Given the description of an element on the screen output the (x, y) to click on. 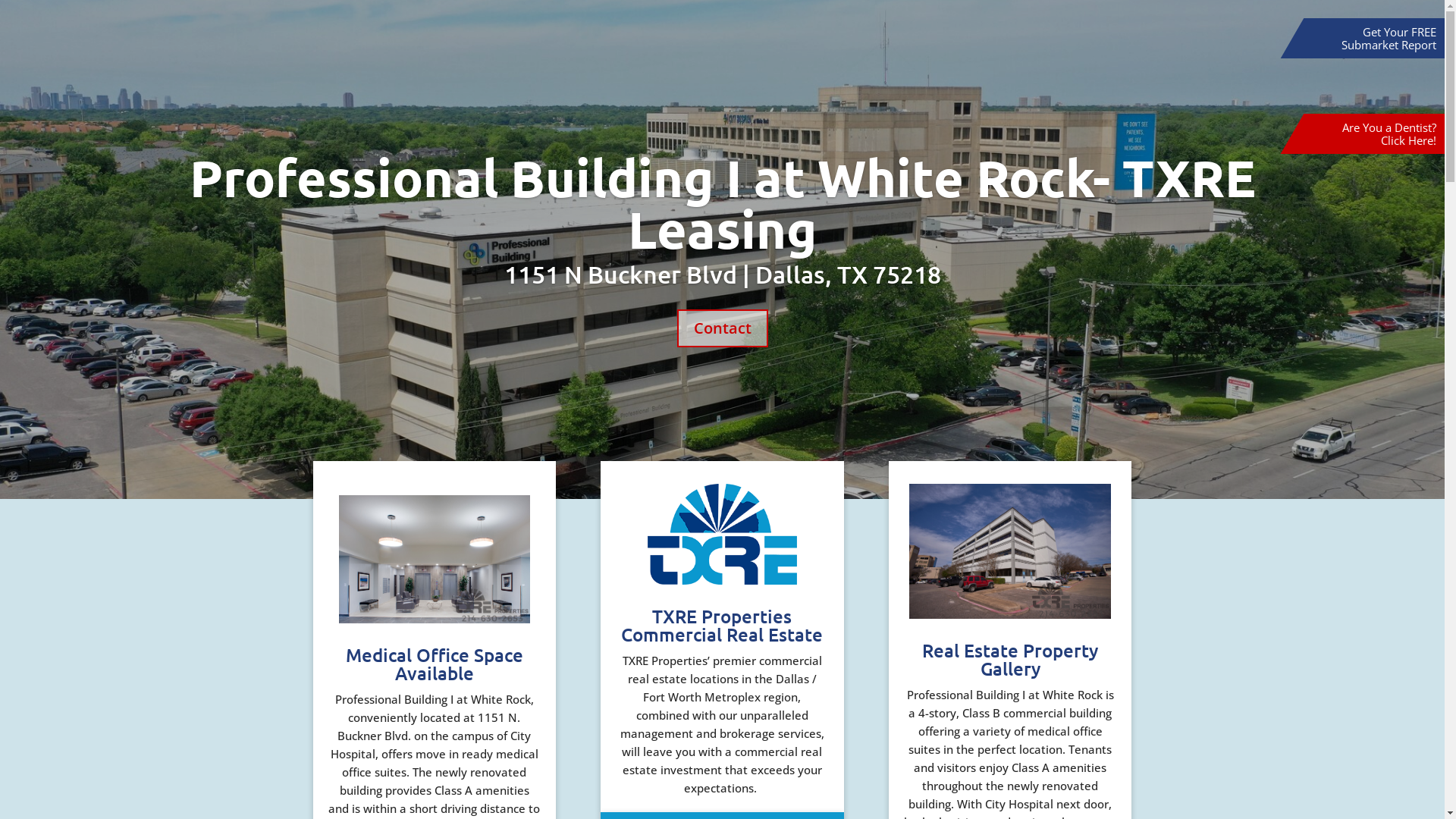
Get Your FREE
Submarket Report Element type: text (1388, 38)
Professional Building I at White Rock- TXRE Leasing Element type: text (722, 202)
Are You a Dentist?
Click Here! Element type: text (1389, 133)
Contact Element type: text (721, 328)
